Given the description of an element on the screen output the (x, y) to click on. 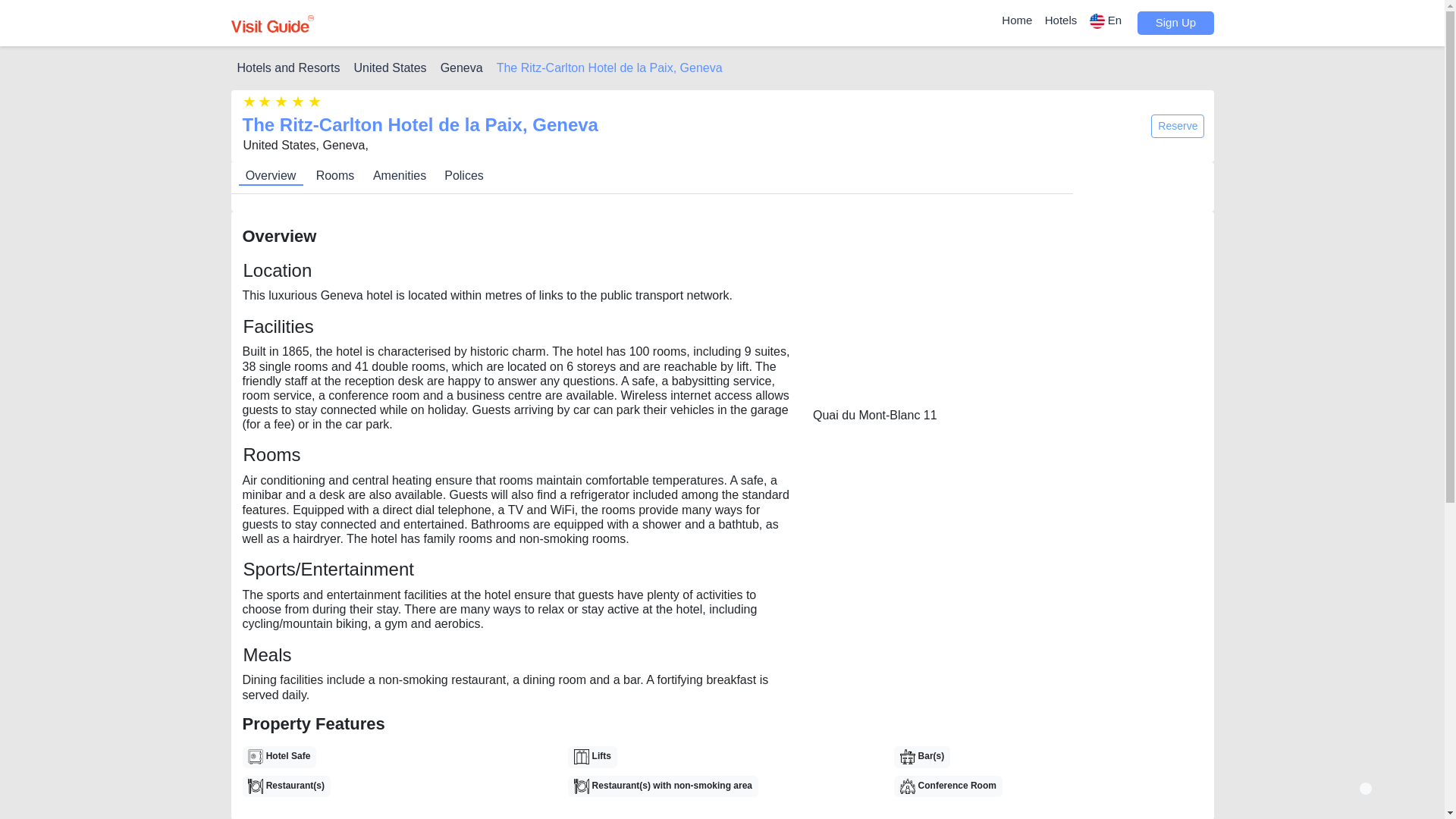
En (1107, 21)
Hotels (1061, 20)
Reserve (1177, 126)
Rooms (335, 175)
Visit Guide (271, 24)
Amenities (398, 175)
Sign Up (1175, 23)
Geneva (462, 67)
Home (1015, 20)
United States (389, 67)
